Given the description of an element on the screen output the (x, y) to click on. 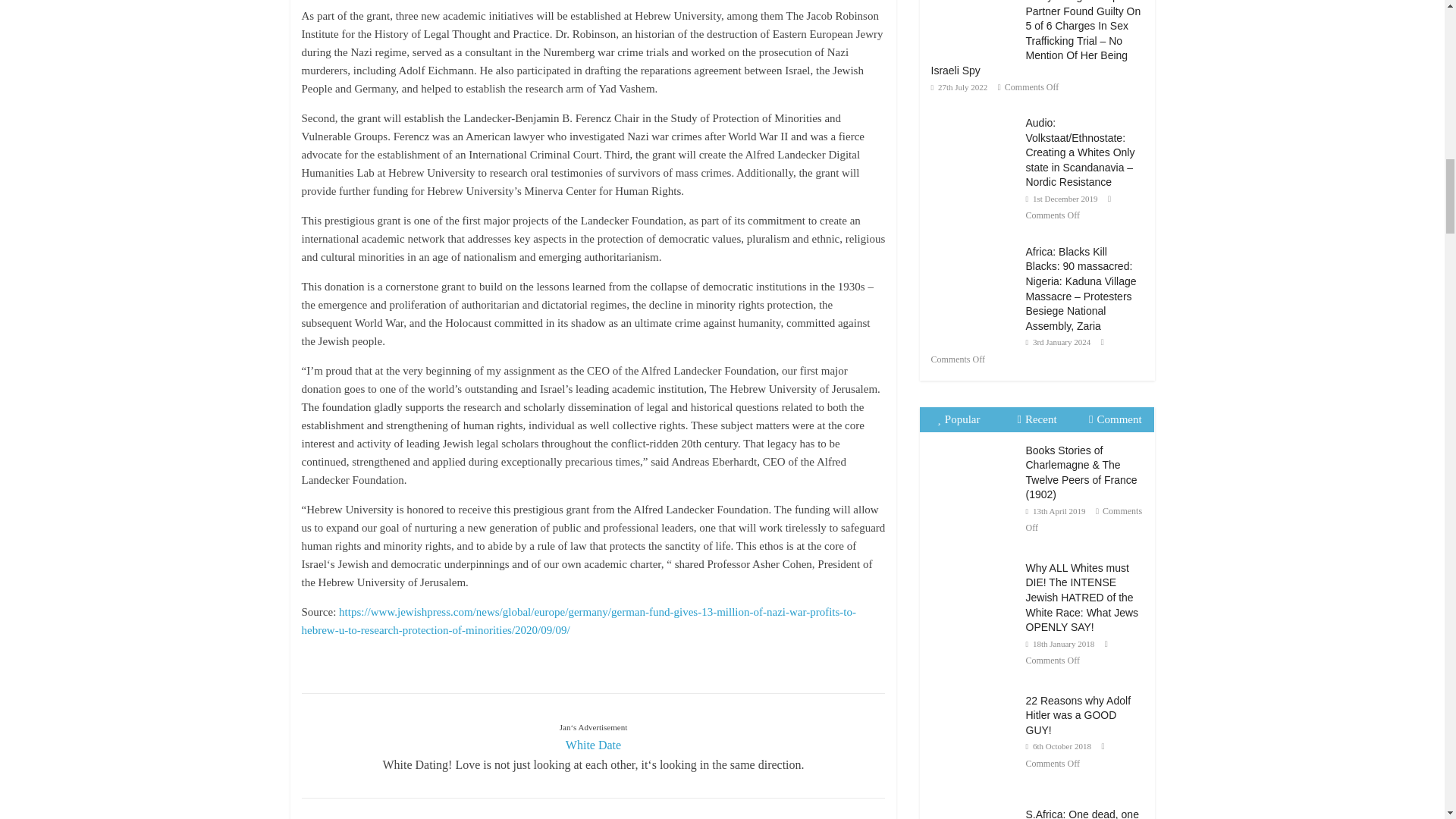
White Date (593, 744)
